Given the description of an element on the screen output the (x, y) to click on. 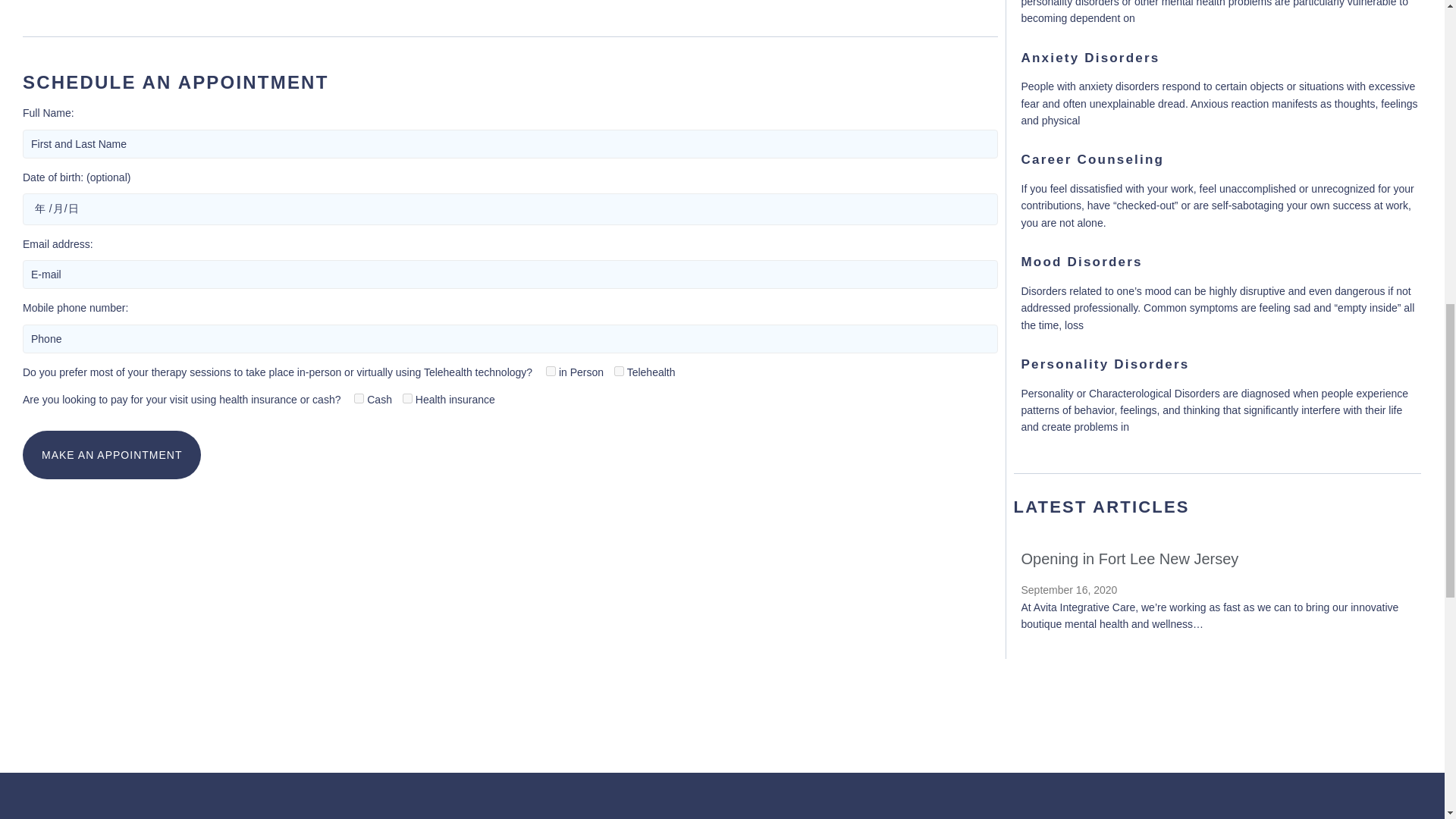
in Person (551, 370)
Make an Appointment (111, 454)
Personality Disorders (1104, 364)
Anxiety Disorders (1089, 57)
Career Counseling (1091, 159)
Cash (358, 398)
Health insurance (407, 398)
Opening in Fort Lee New Jersey (1129, 558)
Mood Disorders (1080, 261)
Telehealth (619, 370)
Make an Appointment (111, 454)
September 16, 2020 (1068, 589)
